Given the description of an element on the screen output the (x, y) to click on. 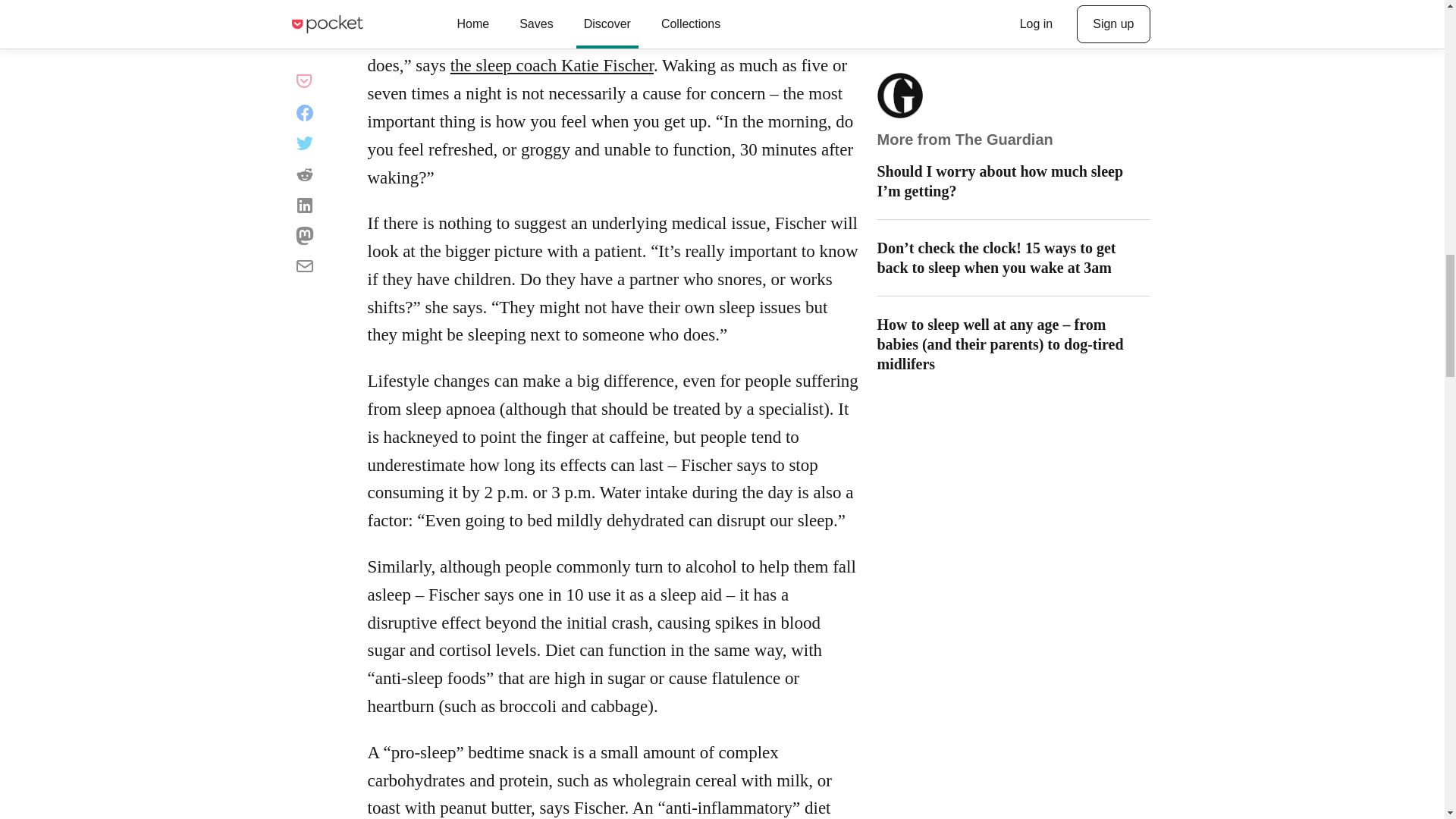
the sleep coach Katie Fischer (551, 65)
